Given the description of an element on the screen output the (x, y) to click on. 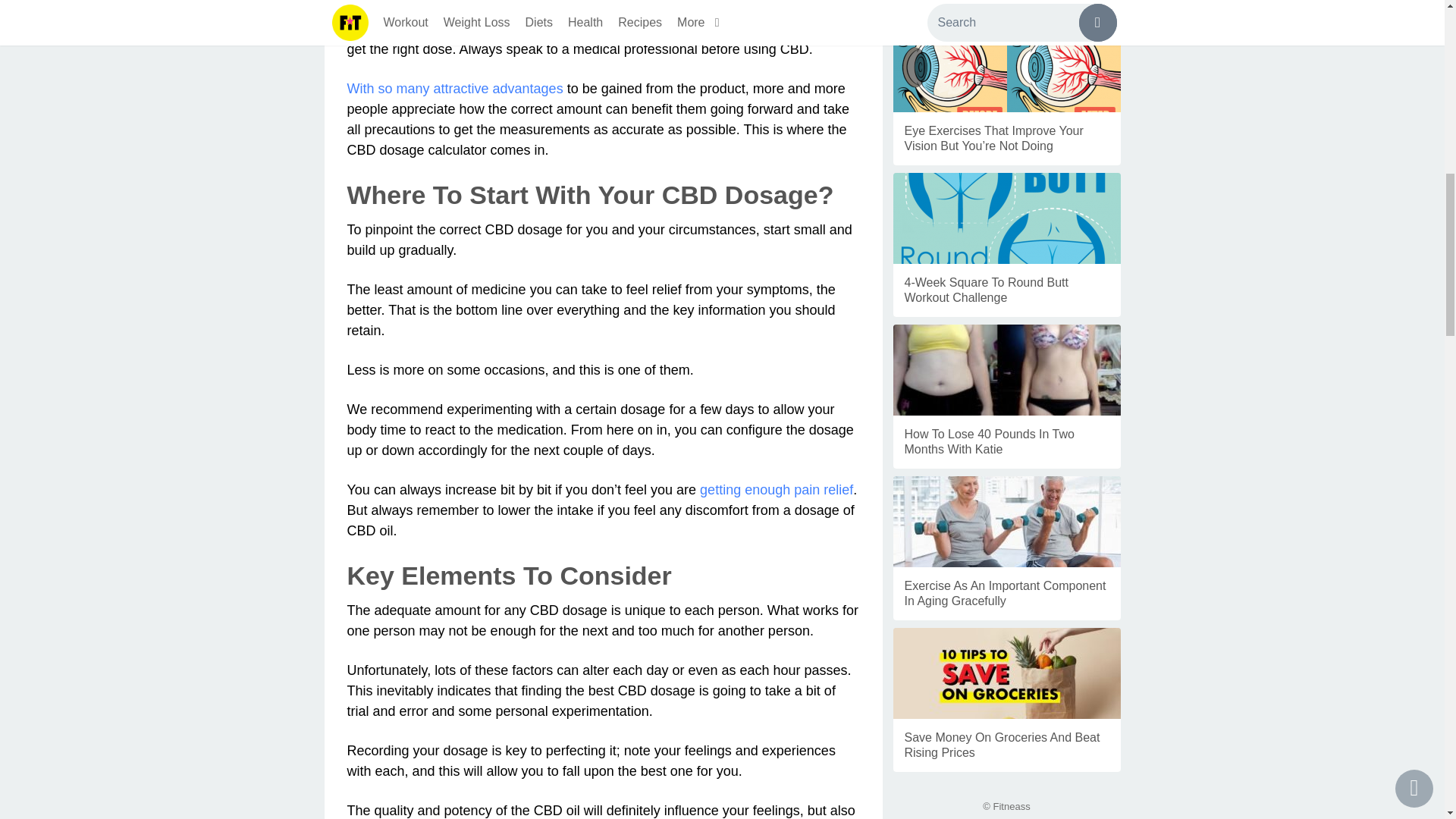
CBD dosage calculator (758, 28)
getting enough pain relief (776, 489)
With so many attractive advantages (455, 88)
